Given the description of an element on the screen output the (x, y) to click on. 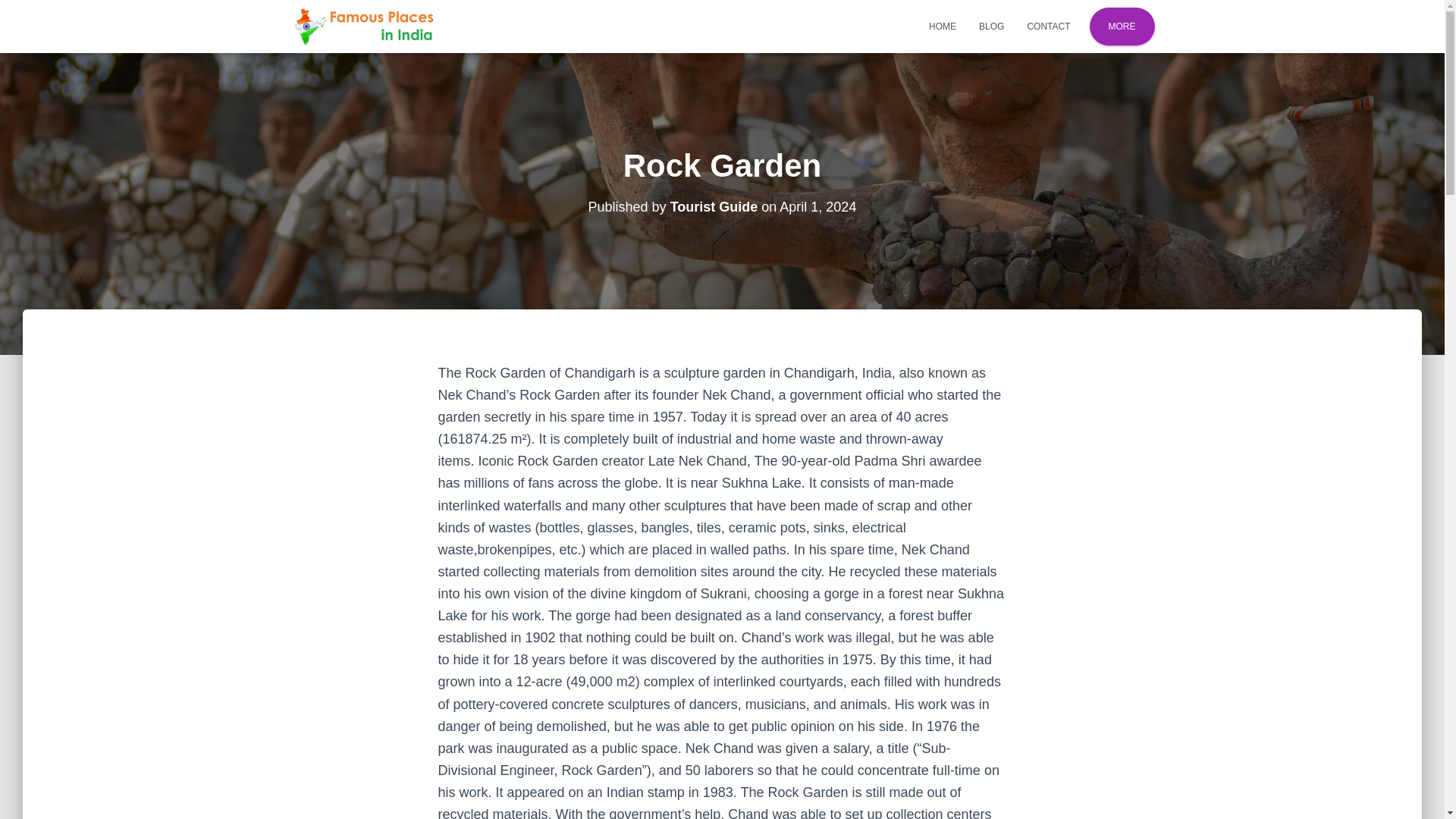
BLOG (991, 26)
CONTACT (1047, 26)
Tourist Guide (713, 206)
MORE (1121, 26)
More (1121, 26)
HOME (942, 26)
Blog (991, 26)
Home (942, 26)
Famous Places In India (364, 26)
Contact (1047, 26)
